Given the description of an element on the screen output the (x, y) to click on. 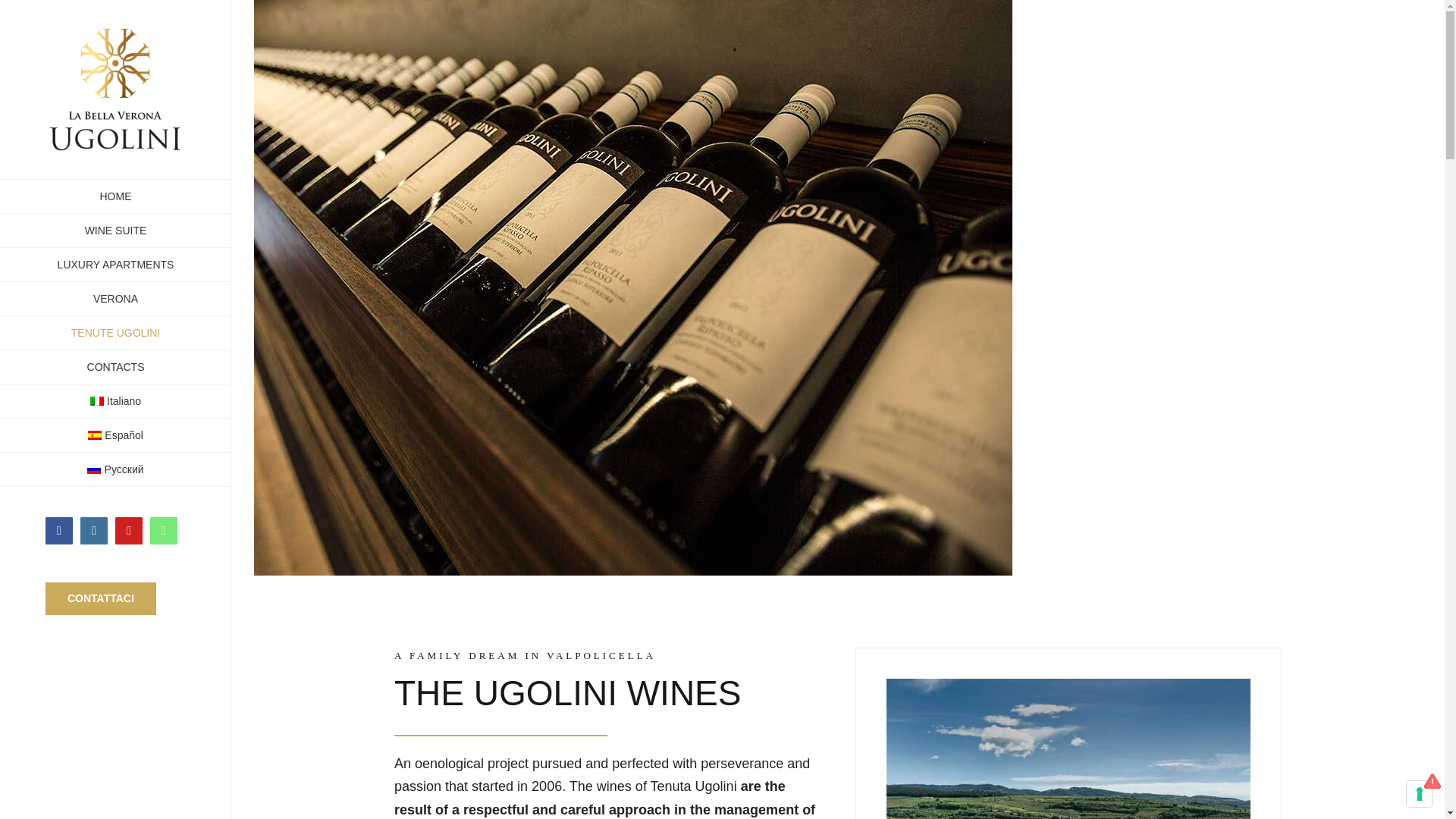
Facebook (58, 530)
YouTube (128, 530)
TENUTE UGOLINI (115, 333)
WINE SUITE (115, 230)
VERONA (115, 298)
Instagram (93, 530)
bg-casale-tenuta-ugolini-valpolicella (1068, 685)
HOME (115, 196)
WhatsApp (163, 530)
Italiano (115, 401)
Italiano (115, 401)
CONTATTACI (100, 598)
LUXURY APARTMENTS (115, 264)
CONTACTS (115, 367)
